Given the description of an element on the screen output the (x, y) to click on. 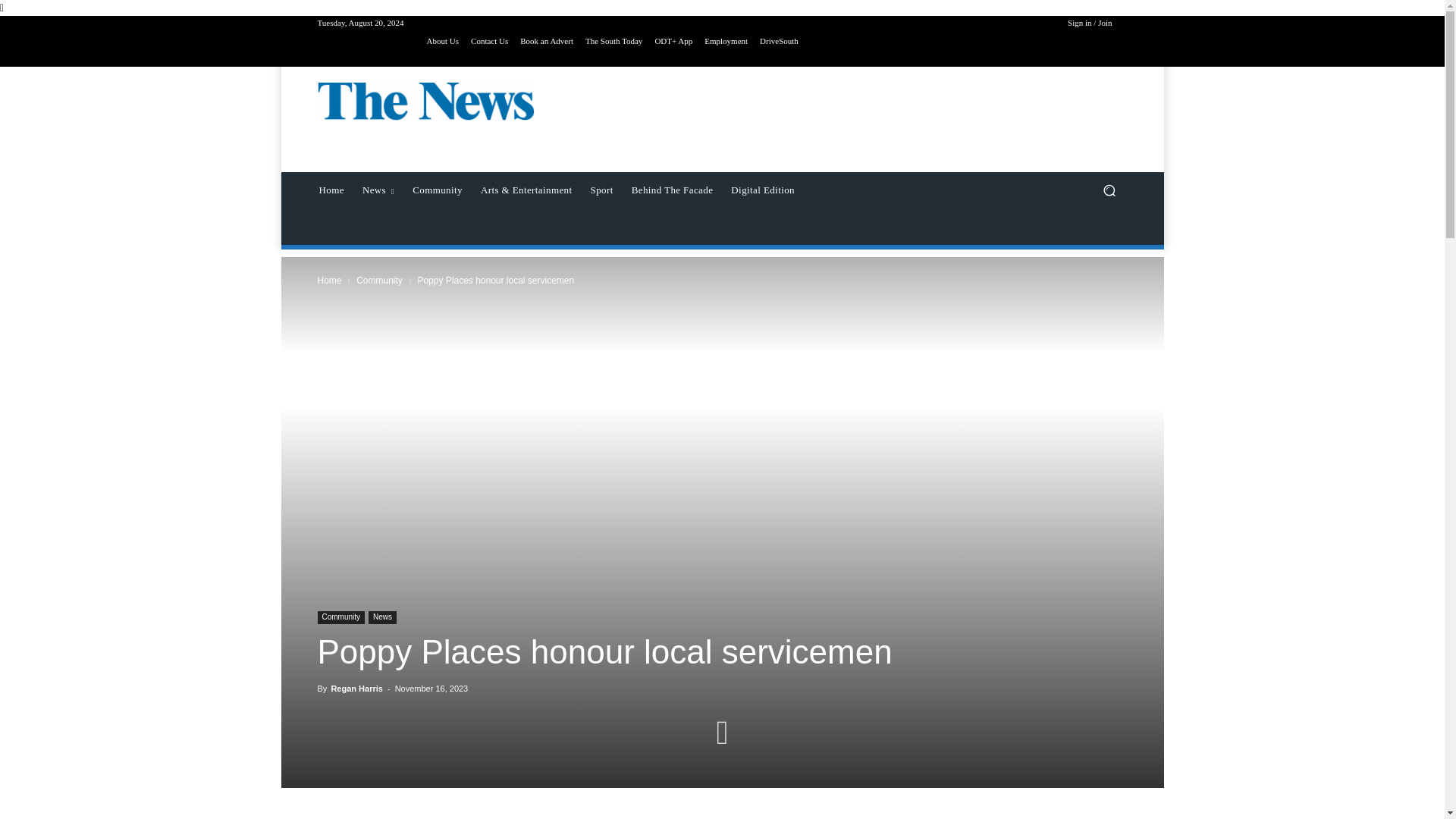
DriveSouth (778, 40)
The South Today (613, 40)
Home (328, 280)
View all posts in Community (379, 280)
Employment (726, 40)
Home (330, 189)
Behind The Facade (672, 189)
Book an Advert (546, 40)
Community (341, 617)
About Us (442, 40)
